Given the description of an element on the screen output the (x, y) to click on. 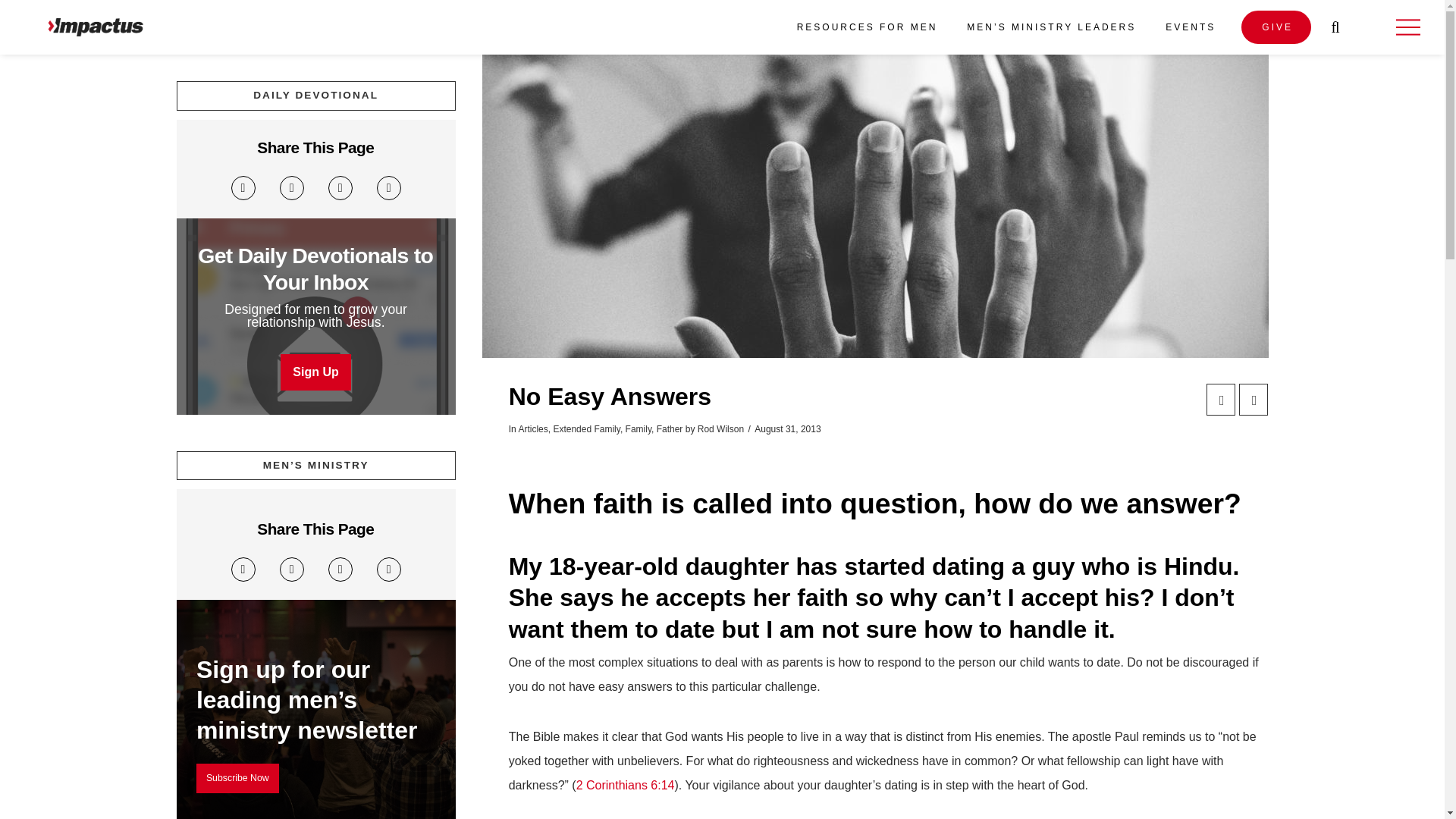
GIVE (1276, 27)
Family (638, 429)
2 Corinthians 6:14 (625, 784)
Articles (532, 429)
Extended Family (586, 429)
EVENTS (1189, 27)
RESOURCES FOR MEN (866, 27)
Rod Wilson (720, 429)
Father (669, 429)
